Given the description of an element on the screen output the (x, y) to click on. 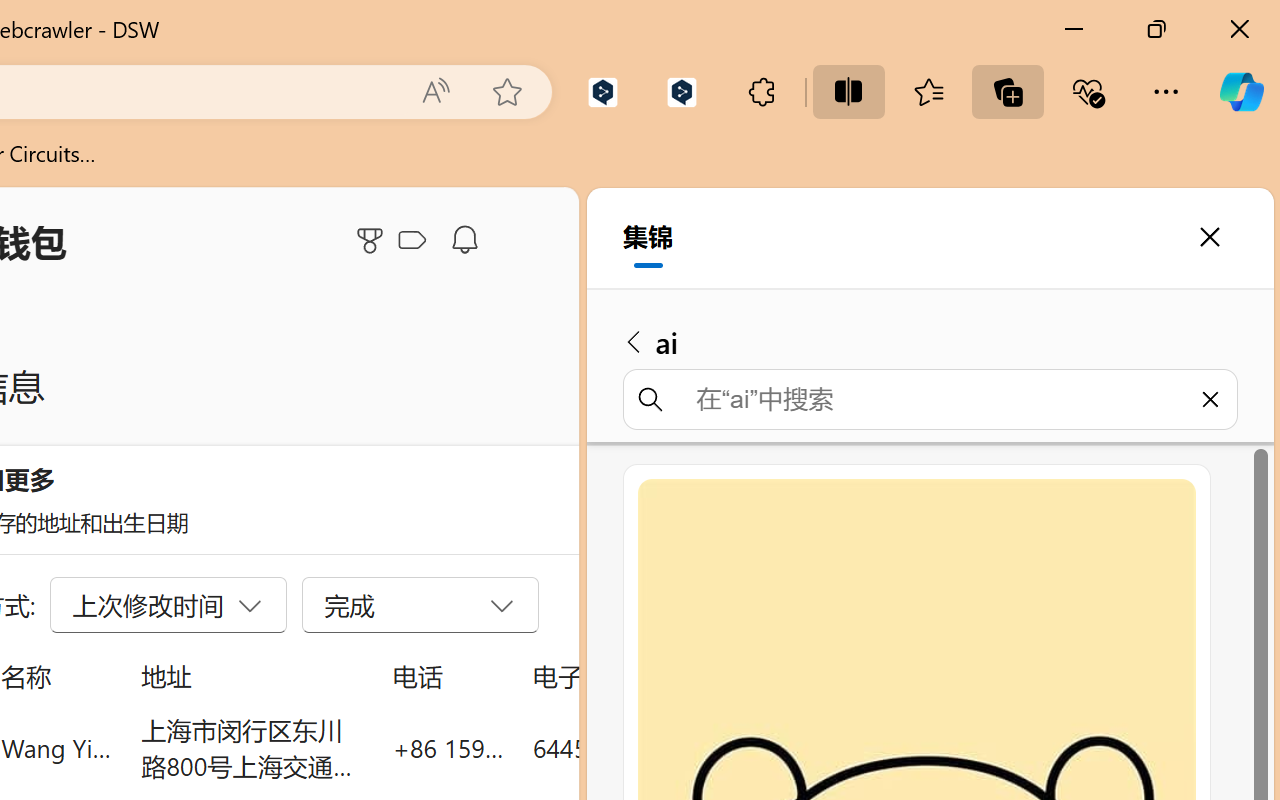
Copilot (Ctrl+Shift+.) (1241, 91)
+86 159 0032 4640 (447, 747)
Microsoft Rewards (373, 240)
